Given the description of an element on the screen output the (x, y) to click on. 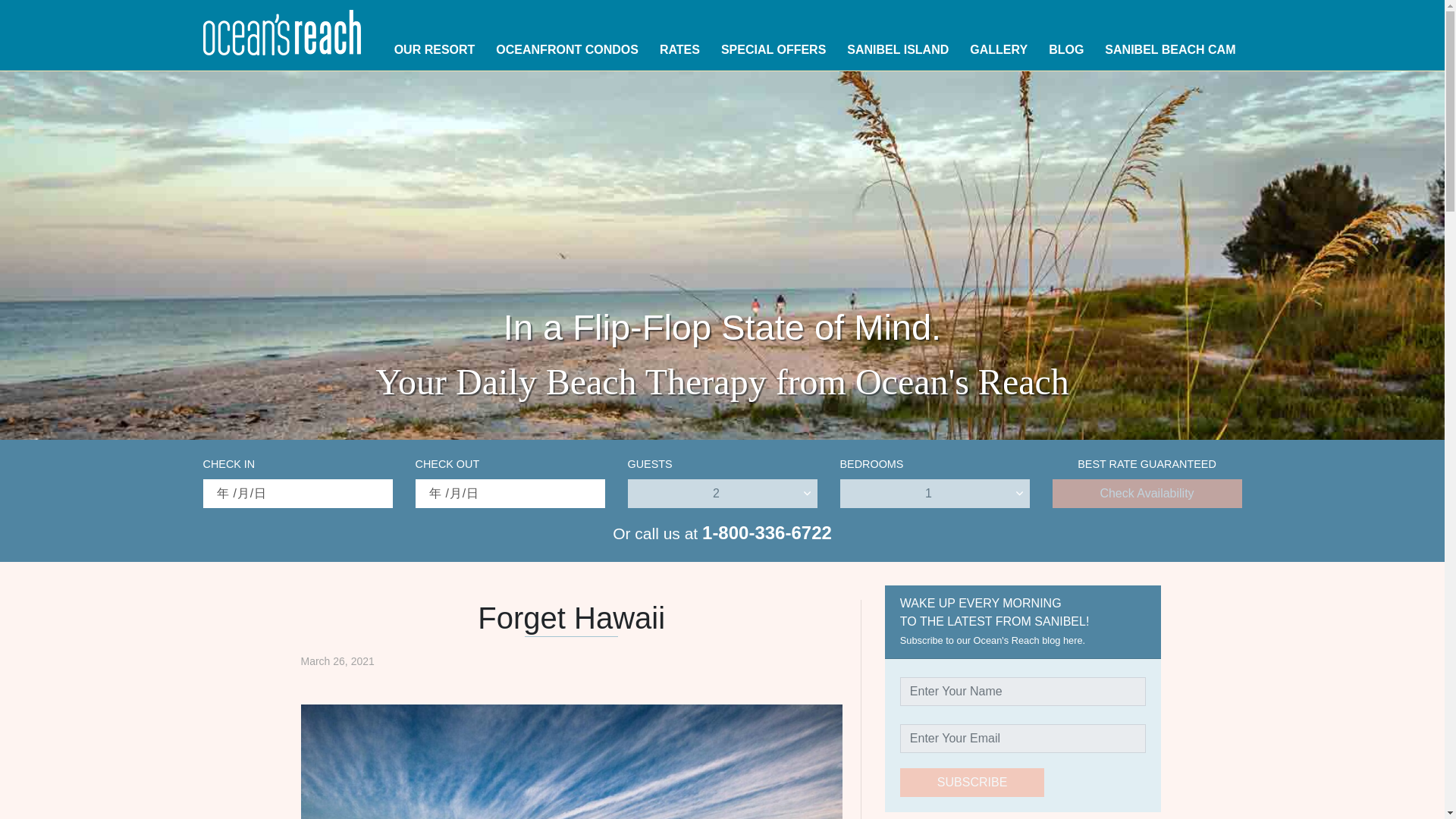
Rates (679, 50)
SANIBEL ISLAND (898, 50)
OUR RESORT (434, 50)
Our Resort (434, 50)
SPECIAL OFFERS (772, 50)
GALLERY (998, 50)
OCEANFRONT CONDOS (567, 50)
Oceanfront Condos (567, 50)
RATES (679, 50)
